Given the description of an element on the screen output the (x, y) to click on. 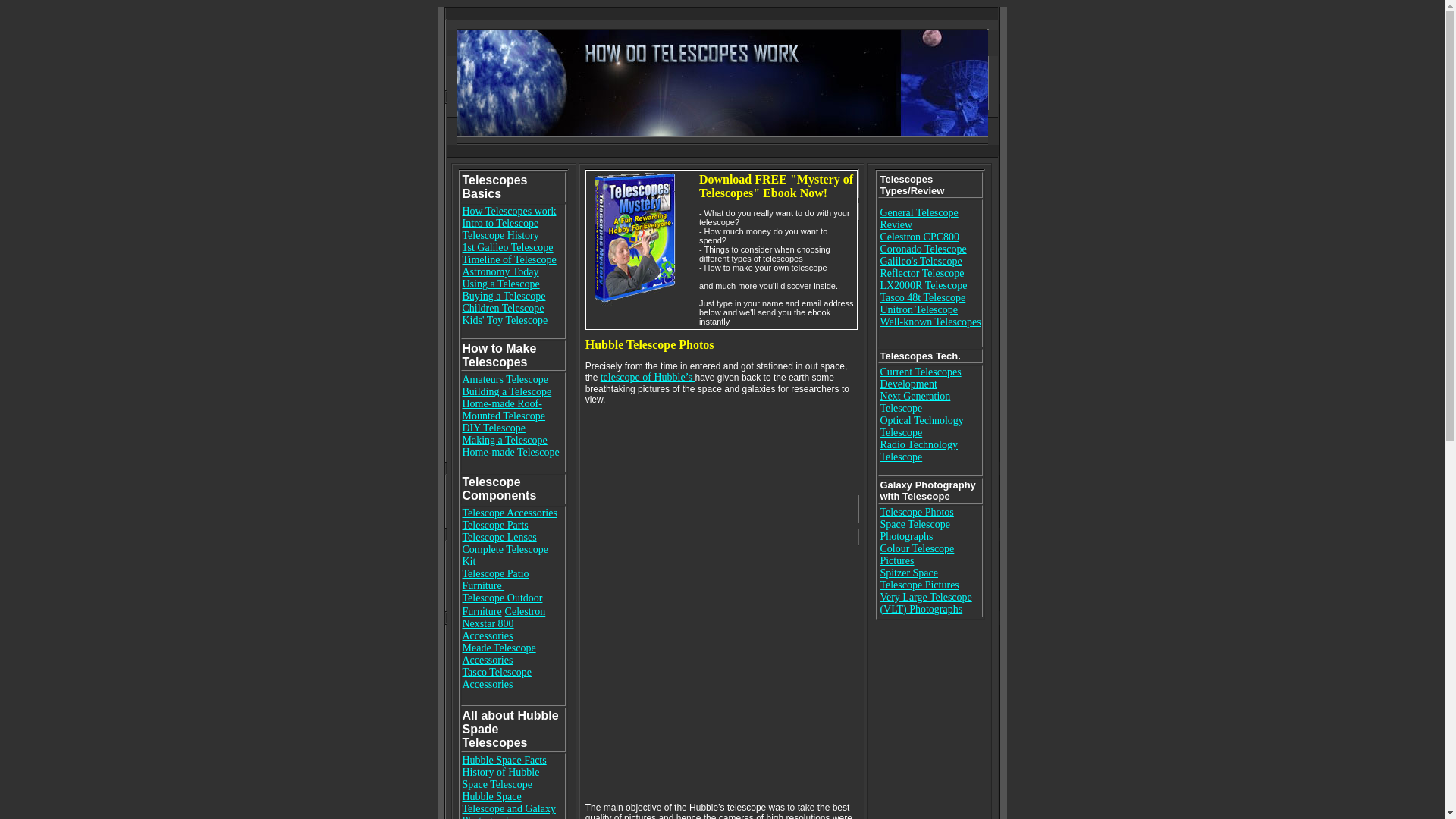
Children Telescope (503, 307)
Celestron Nexstar 800 Accessories (504, 623)
Making a Telescope (505, 439)
Telescope Parts (495, 524)
How Telescopes work (509, 211)
Celestron CPC800 (919, 235)
Advertisement (721, 150)
Amateurs Telescope (505, 378)
Telescope History (500, 235)
Hubble Space Telescope and Galaxy Photography (509, 805)
